Given the description of an element on the screen output the (x, y) to click on. 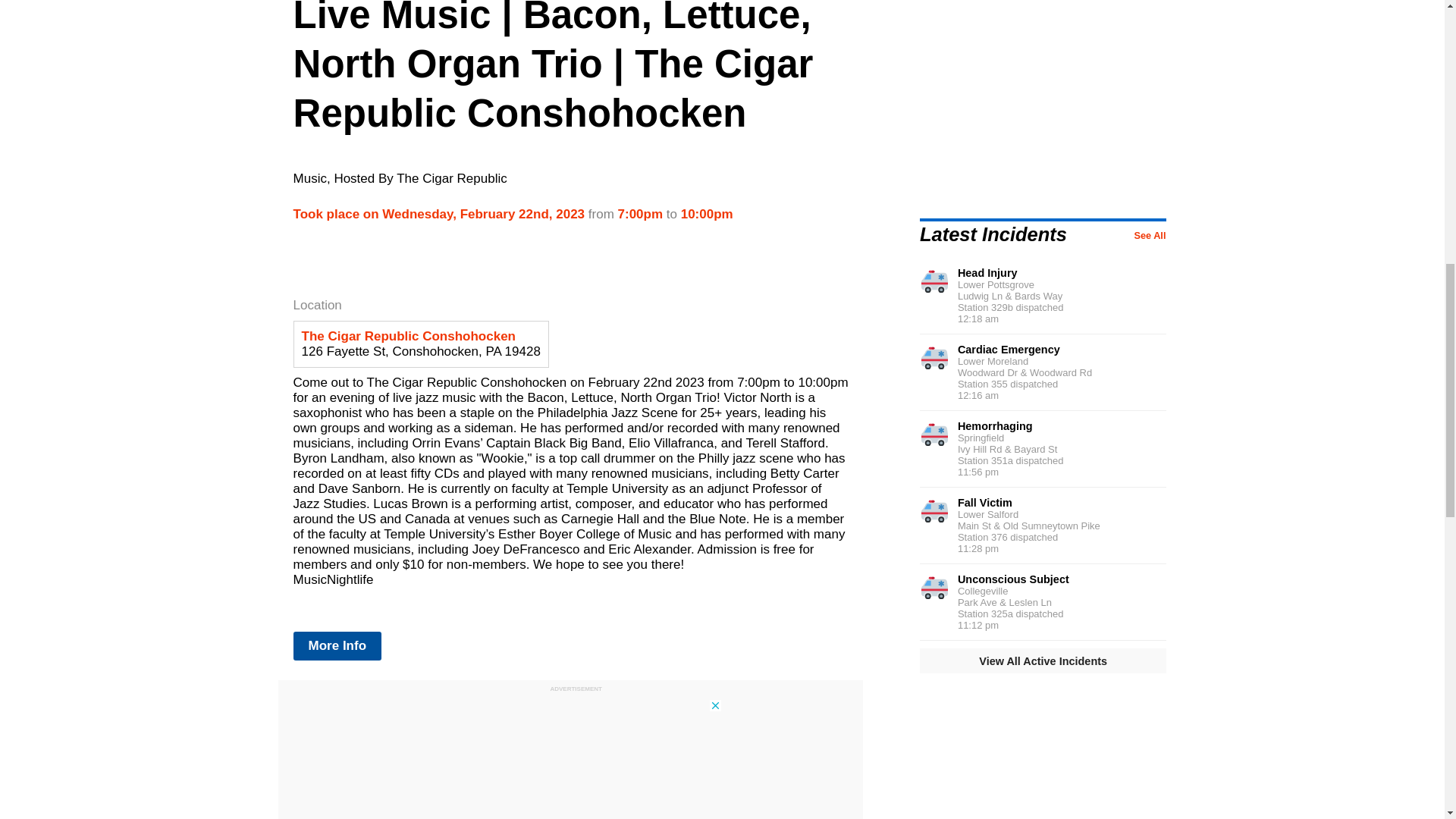
Advertisement (1046, 117)
3rd party ad content (570, 756)
